Given the description of an element on the screen output the (x, y) to click on. 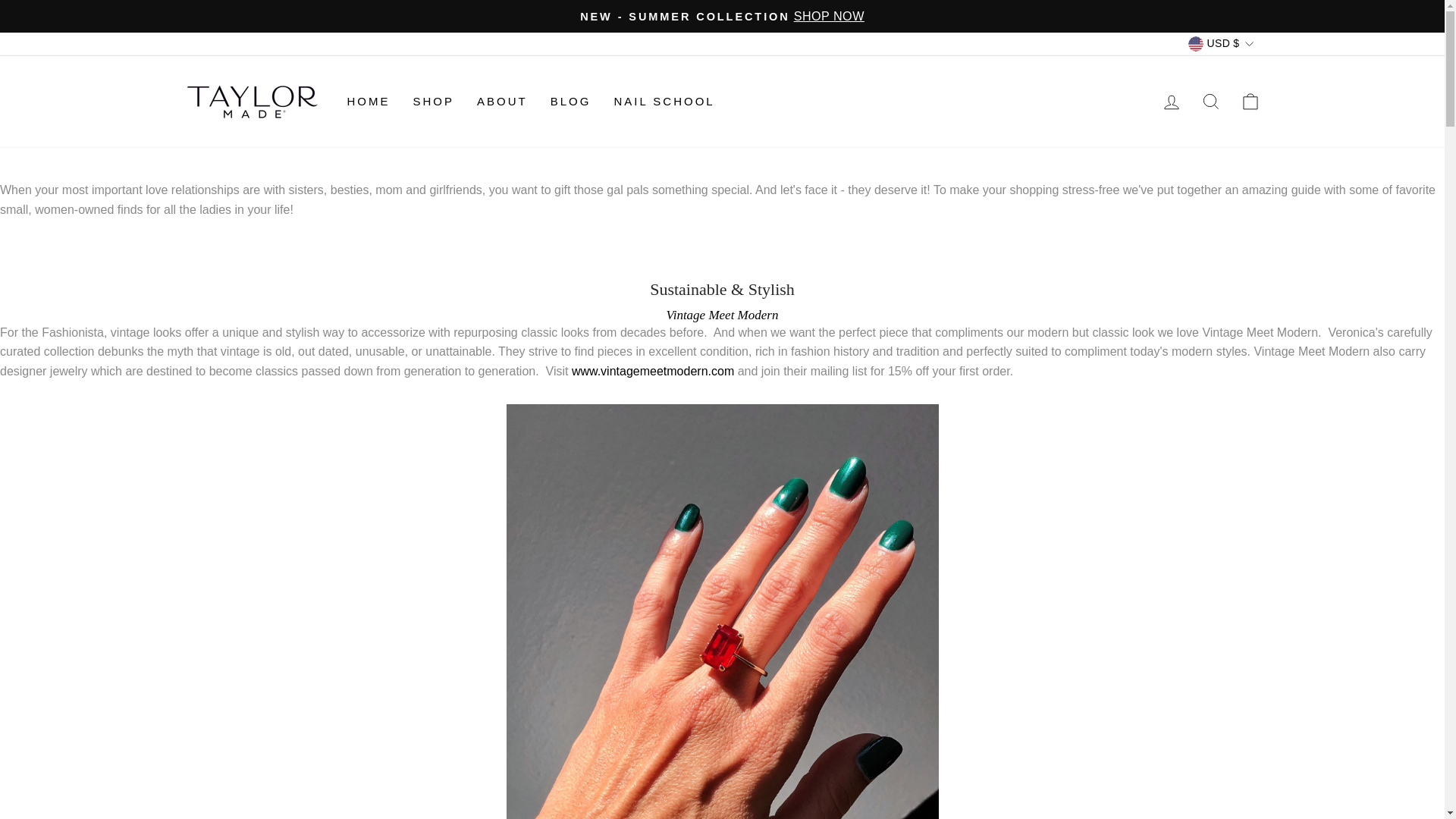
NEW - SUMMER COLLECTIONSHOP NOW (722, 16)
